Given the description of an element on the screen output the (x, y) to click on. 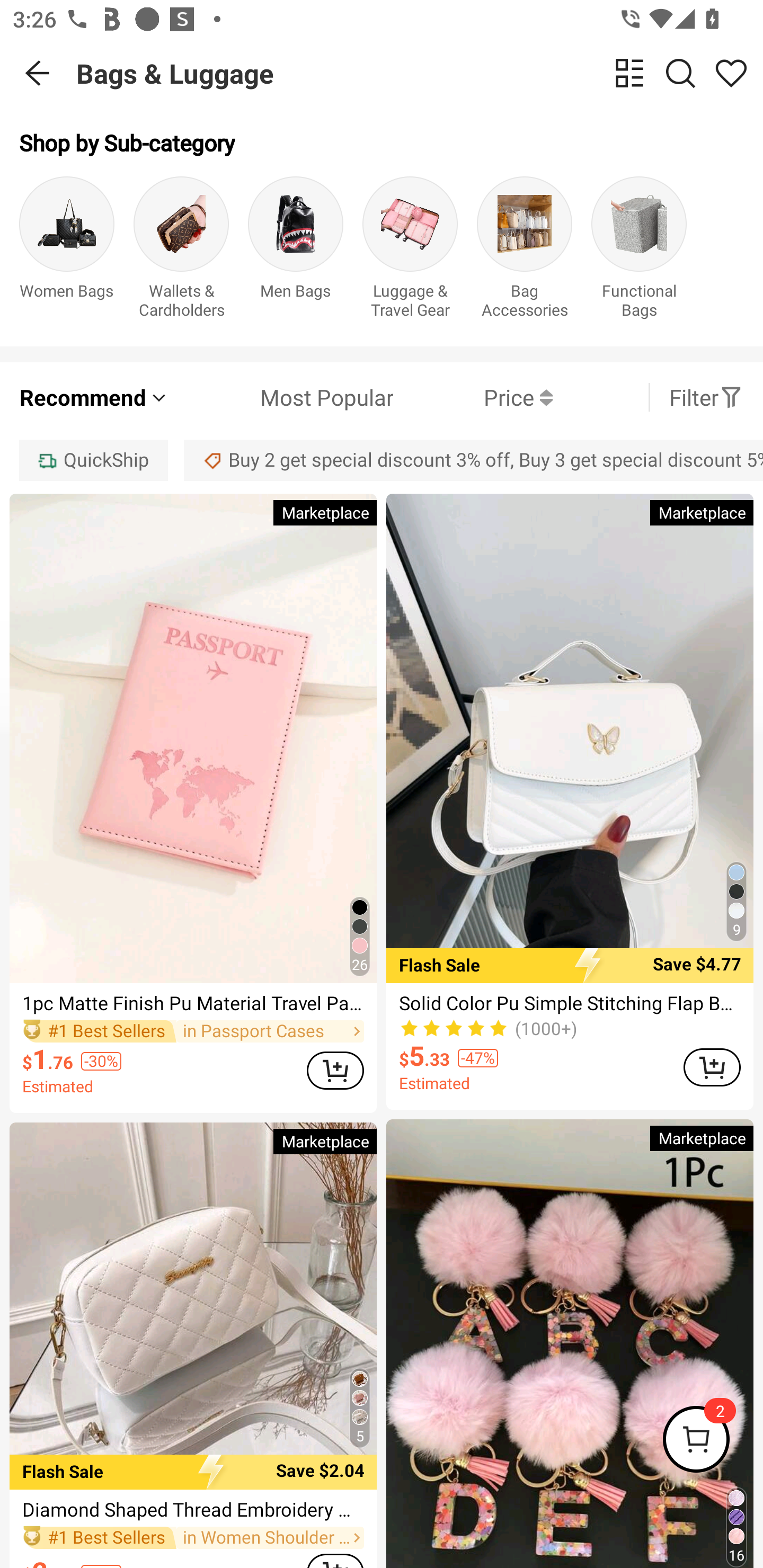
Bags & Luggage change view Search Share (419, 72)
change view (629, 72)
Search (679, 72)
Share (730, 72)
Women Bags (66, 251)
Wallets & Cardholders (180, 251)
Men Bags (295, 251)
Luggage & Travel Gear (409, 251)
Bag Accessories (524, 251)
Functional Bags (638, 251)
Recommend (94, 397)
Most Popular (280, 397)
Price (472, 397)
Filter (705, 397)
QuickShip (93, 460)
#1 Best Sellers in Passport Cases (192, 1031)
ADD TO CART (711, 1067)
ADD TO CART (334, 1070)
#1 Best Sellers in Women Shoulder Bags (192, 1537)
